Given the description of an element on the screen output the (x, y) to click on. 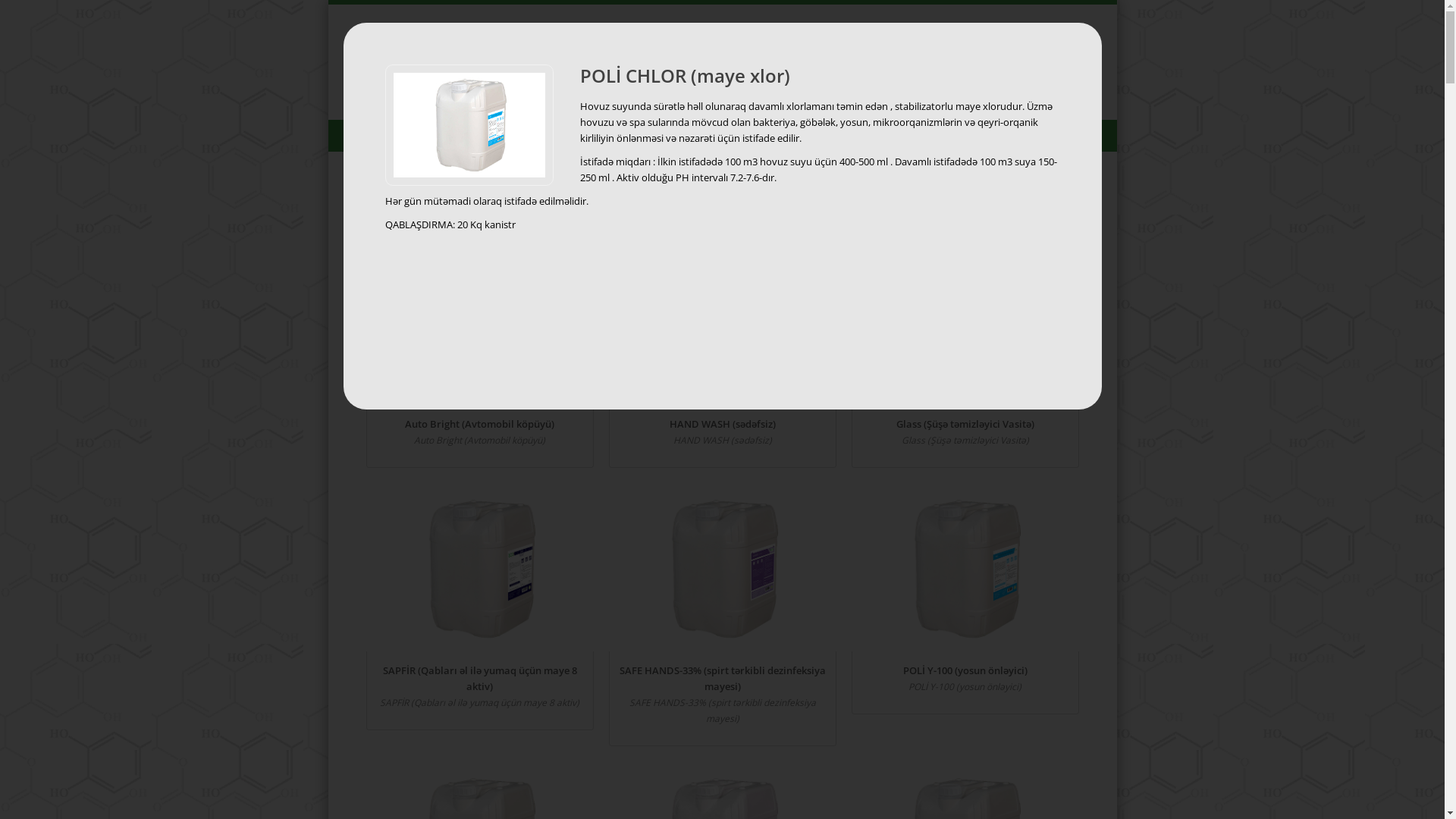
AZ Element type: text (1069, 45)
HAQQIMIZDA Element type: text (483, 135)
Avto Gigiyena Element type: text (770, 201)
  Element type: text (1053, 45)
